Given the description of an element on the screen output the (x, y) to click on. 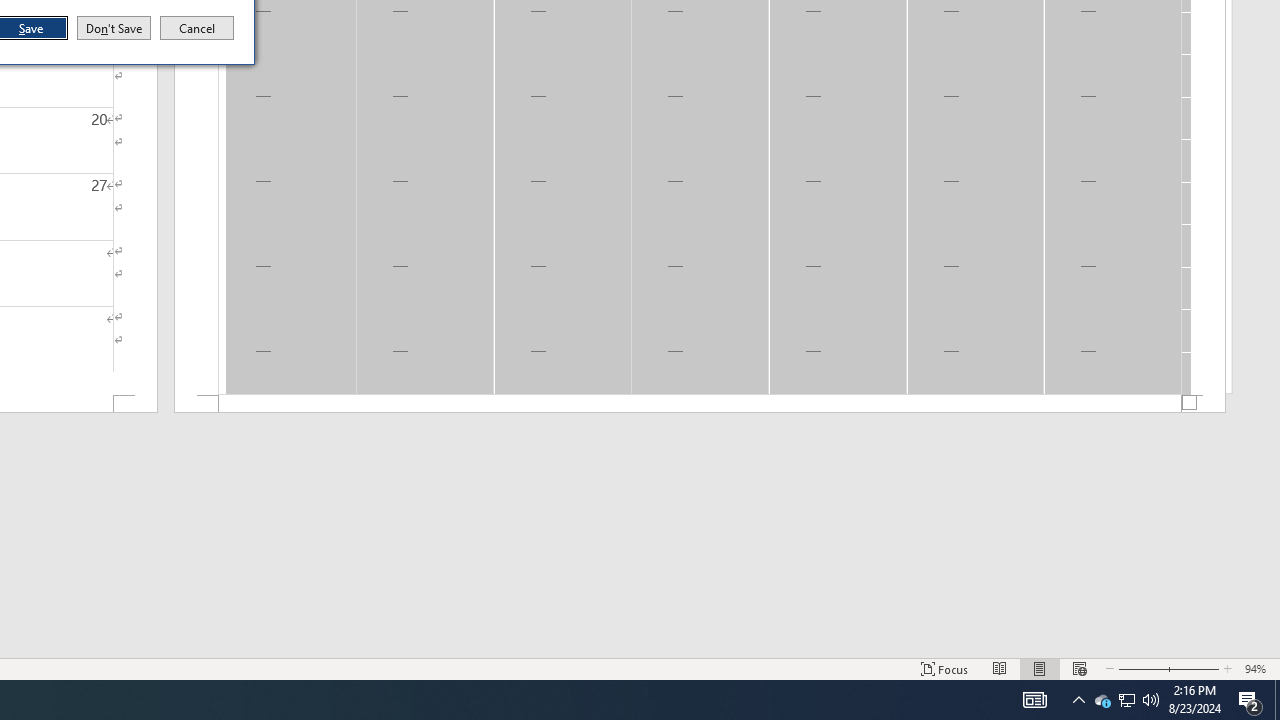
Don't Save (113, 27)
Footer -Section 1- (700, 404)
AutomationID: 4105 (1034, 699)
Notification Chevron (1078, 699)
Cancel (197, 27)
User Promoted Notification Area (1126, 699)
Action Center, 2 new notifications (1250, 699)
Q2790: 100% (1151, 699)
